Given the description of an element on the screen output the (x, y) to click on. 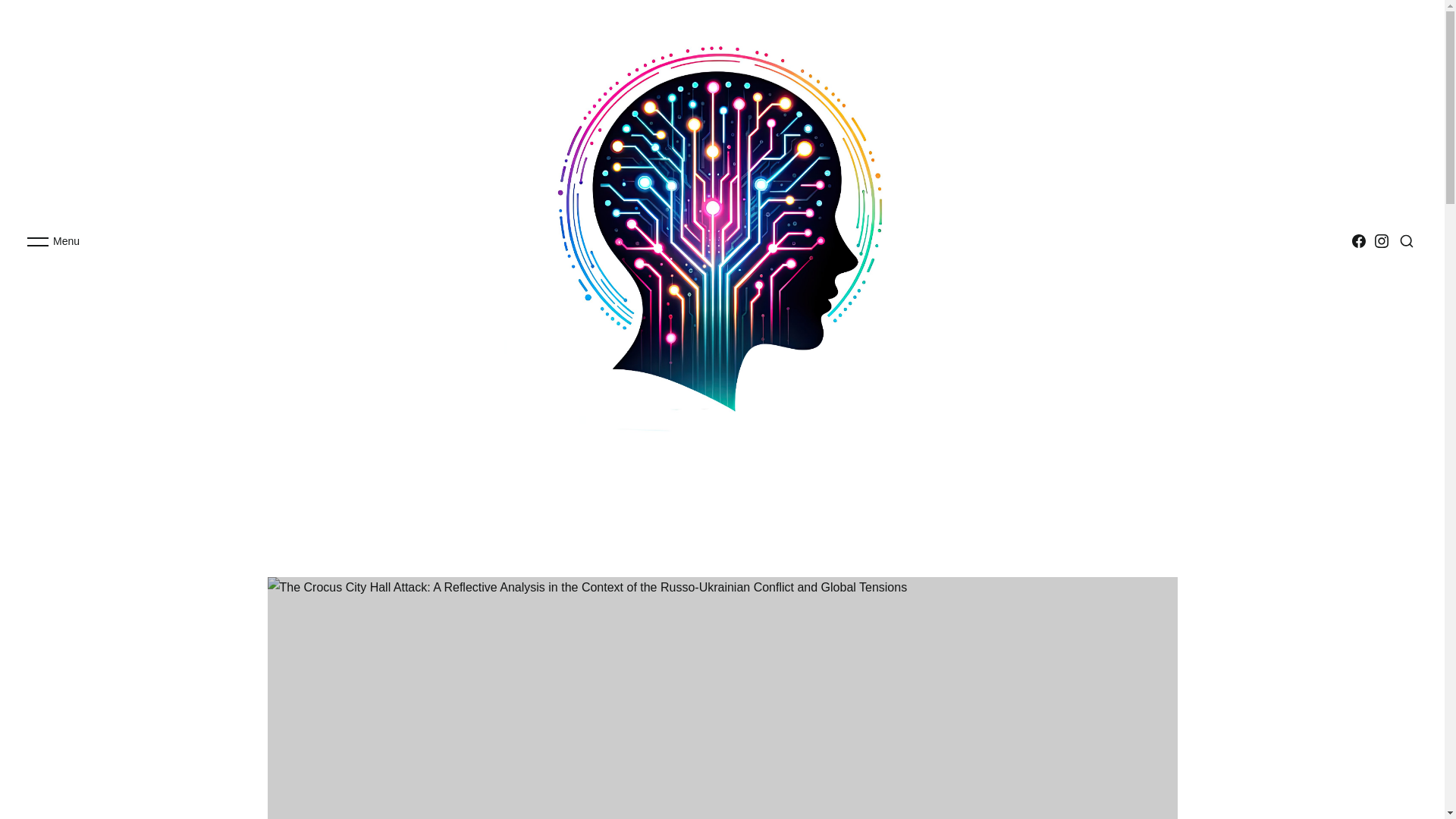
Facebook (1358, 240)
Instagram (1381, 240)
Menu (51, 241)
